Given the description of an element on the screen output the (x, y) to click on. 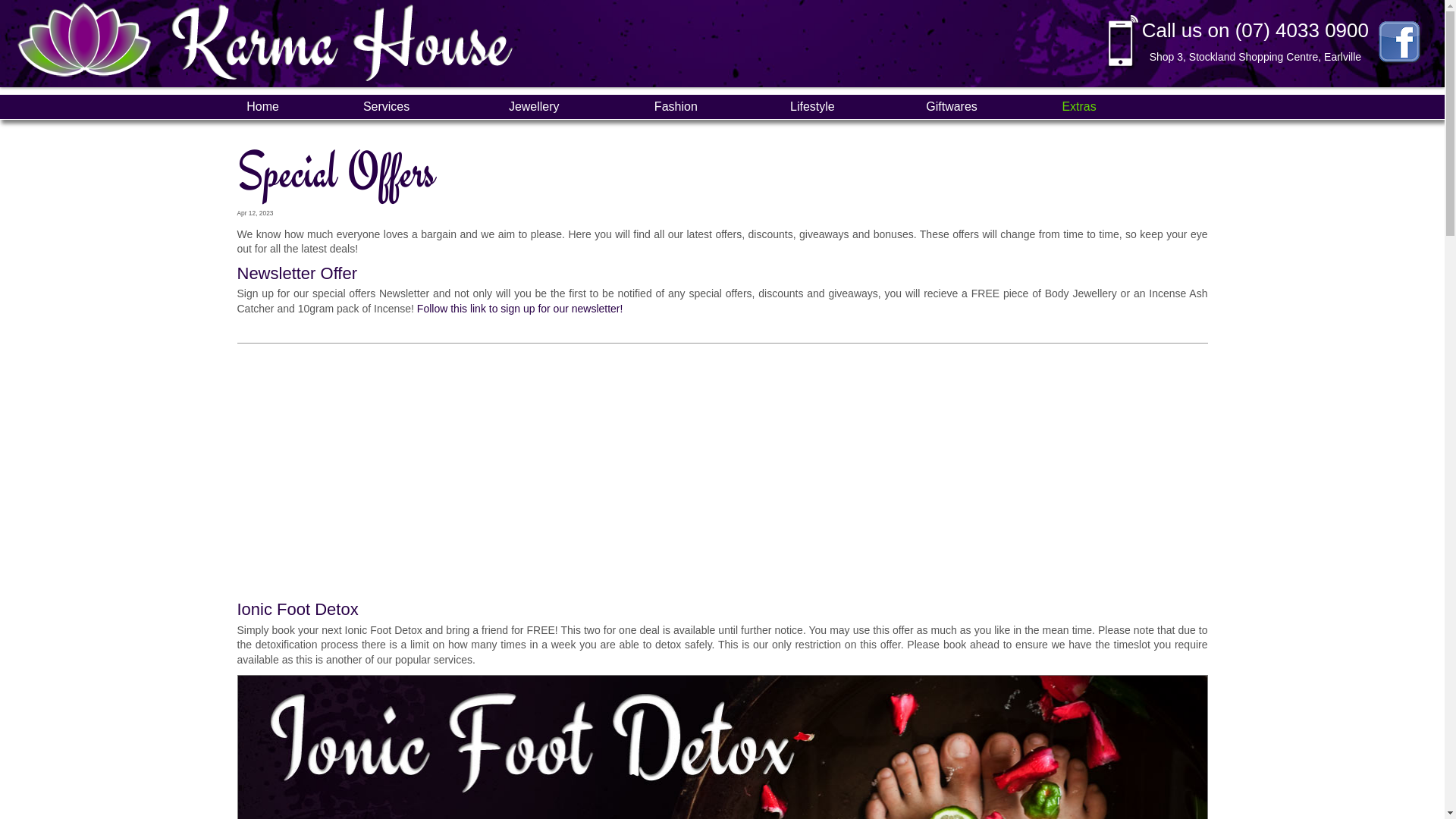
Advertisement Element type: hover (691, 472)
Home Element type: text (262, 106)
Follow this link to sign up for our newsletter! Element type: text (520, 308)
Giftwares Element type: text (951, 106)
